Given the description of an element on the screen output the (x, y) to click on. 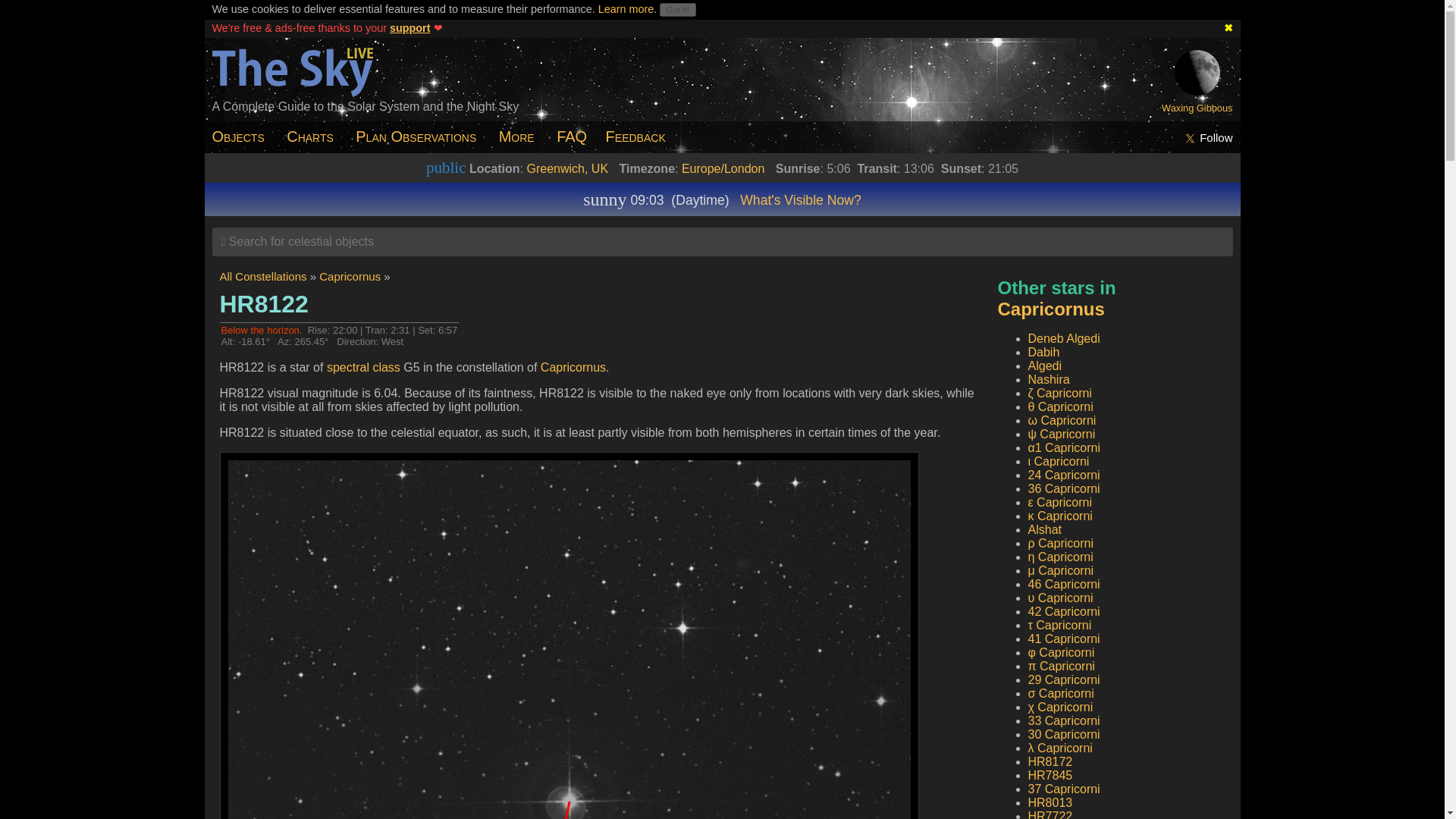
support (410, 28)
Waxing Gibbous (1196, 107)
Change location (566, 168)
Set Location (722, 168)
Objects (240, 137)
Got It! (677, 9)
Learn more (625, 9)
